Given the description of an element on the screen output the (x, y) to click on. 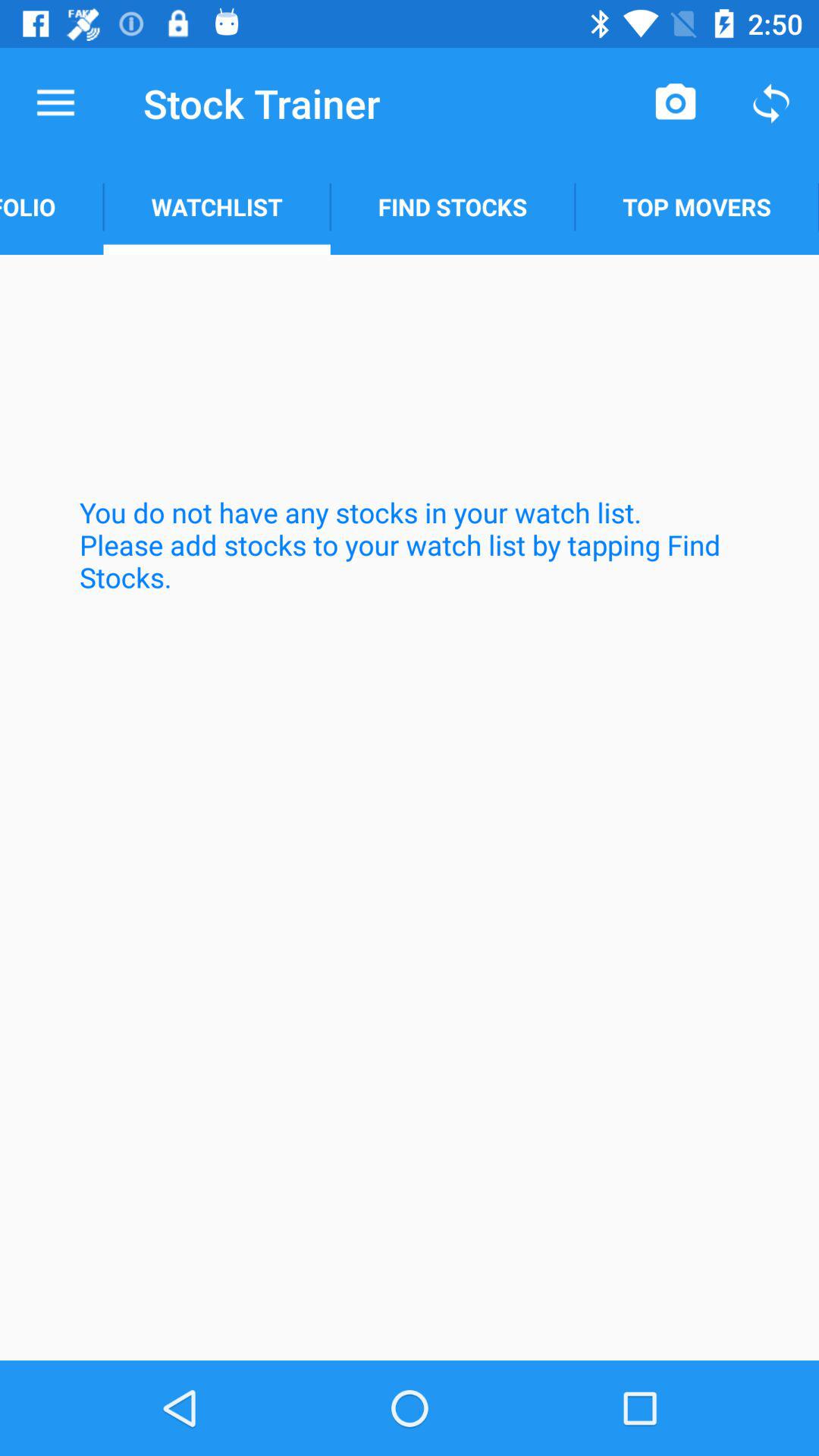
turn off top movers item (697, 206)
